Given the description of an element on the screen output the (x, y) to click on. 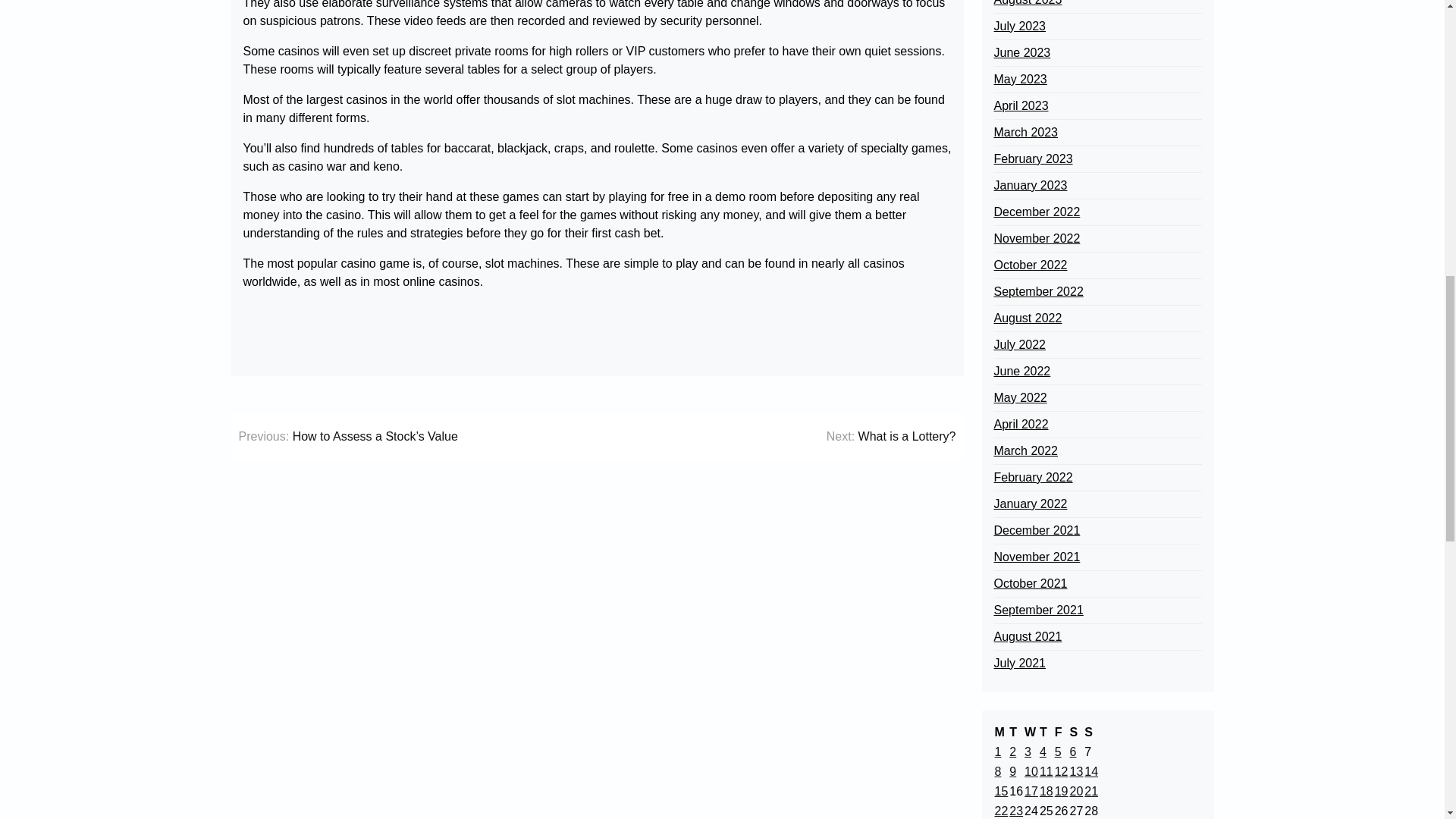
November 2022 (1036, 239)
Next: What is a Lottery? (891, 436)
April 2023 (1020, 106)
June 2023 (1020, 53)
May 2023 (1019, 79)
February 2023 (1031, 158)
July 2023 (1018, 26)
January 2023 (1029, 185)
March 2023 (1025, 132)
December 2022 (1036, 212)
August 2023 (1026, 4)
